Given the description of an element on the screen output the (x, y) to click on. 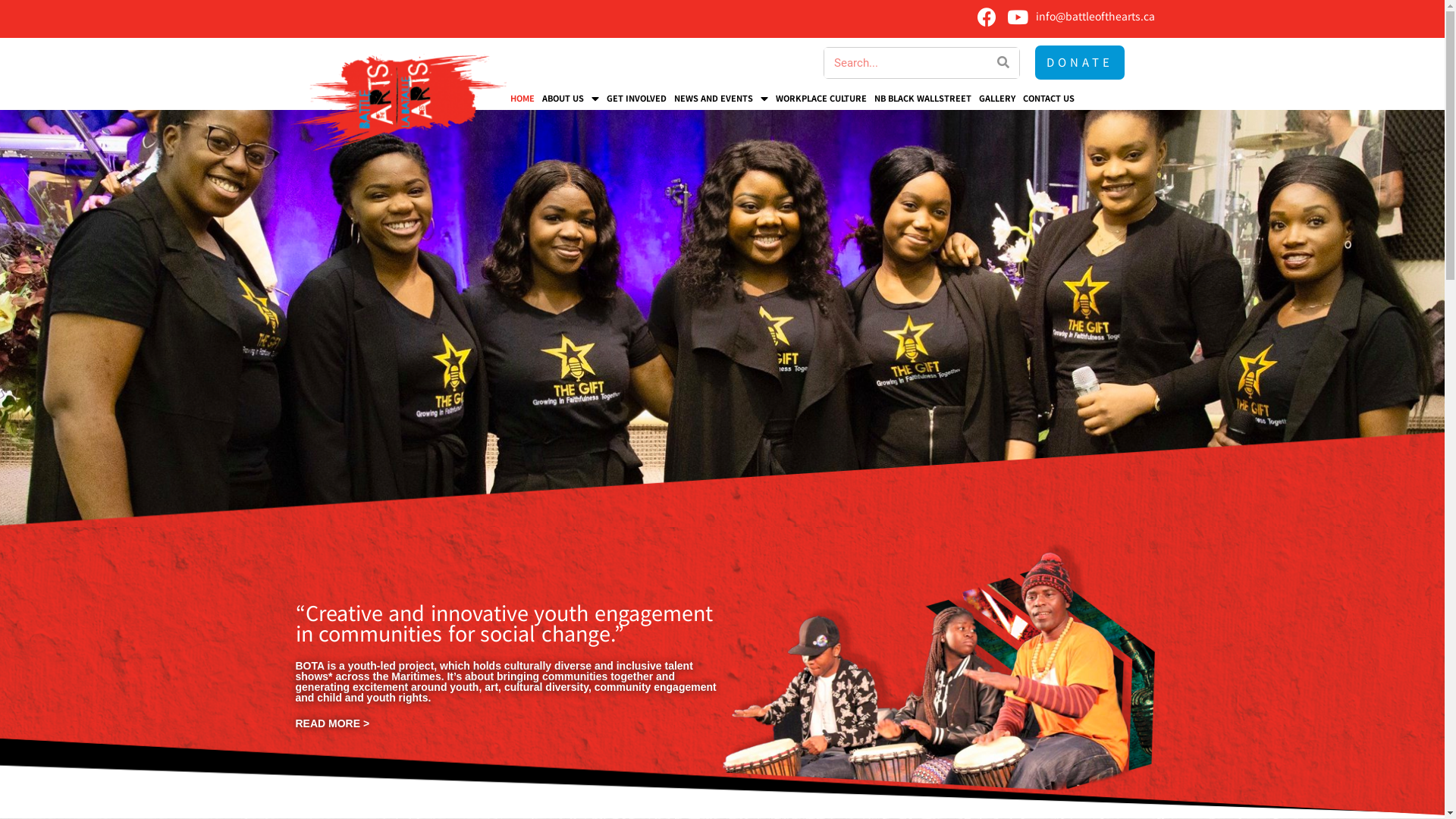
READ MORE > Element type: text (332, 723)
GET INVOLVED Element type: text (636, 98)
WORKPLACE CULTURE Element type: text (820, 98)
CONTACT US Element type: text (1048, 98)
NB BLACK WALLSTREET Element type: text (922, 98)
info@battleofthearts.ca Element type: text (1094, 16)
HOME Element type: text (522, 98)
DONATE Element type: text (1079, 62)
Search Element type: hover (1003, 62)
NEWS AND EVENTS Element type: text (720, 98)
ABOUT US Element type: text (570, 98)
Search Element type: hover (906, 62)
GALLERY Element type: text (997, 98)
